Given the description of an element on the screen output the (x, y) to click on. 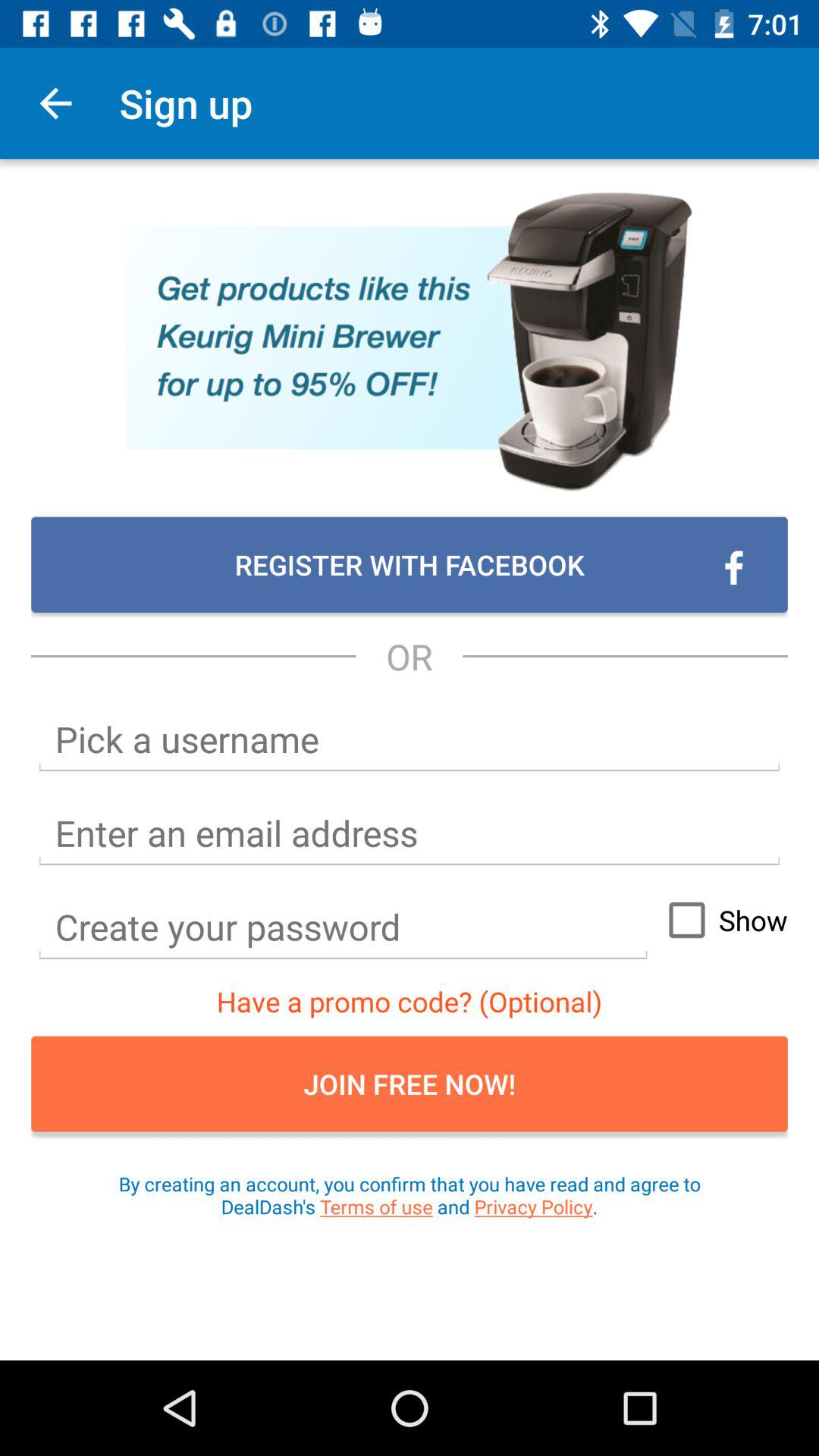
enter a username (409, 739)
